Given the description of an element on the screen output the (x, y) to click on. 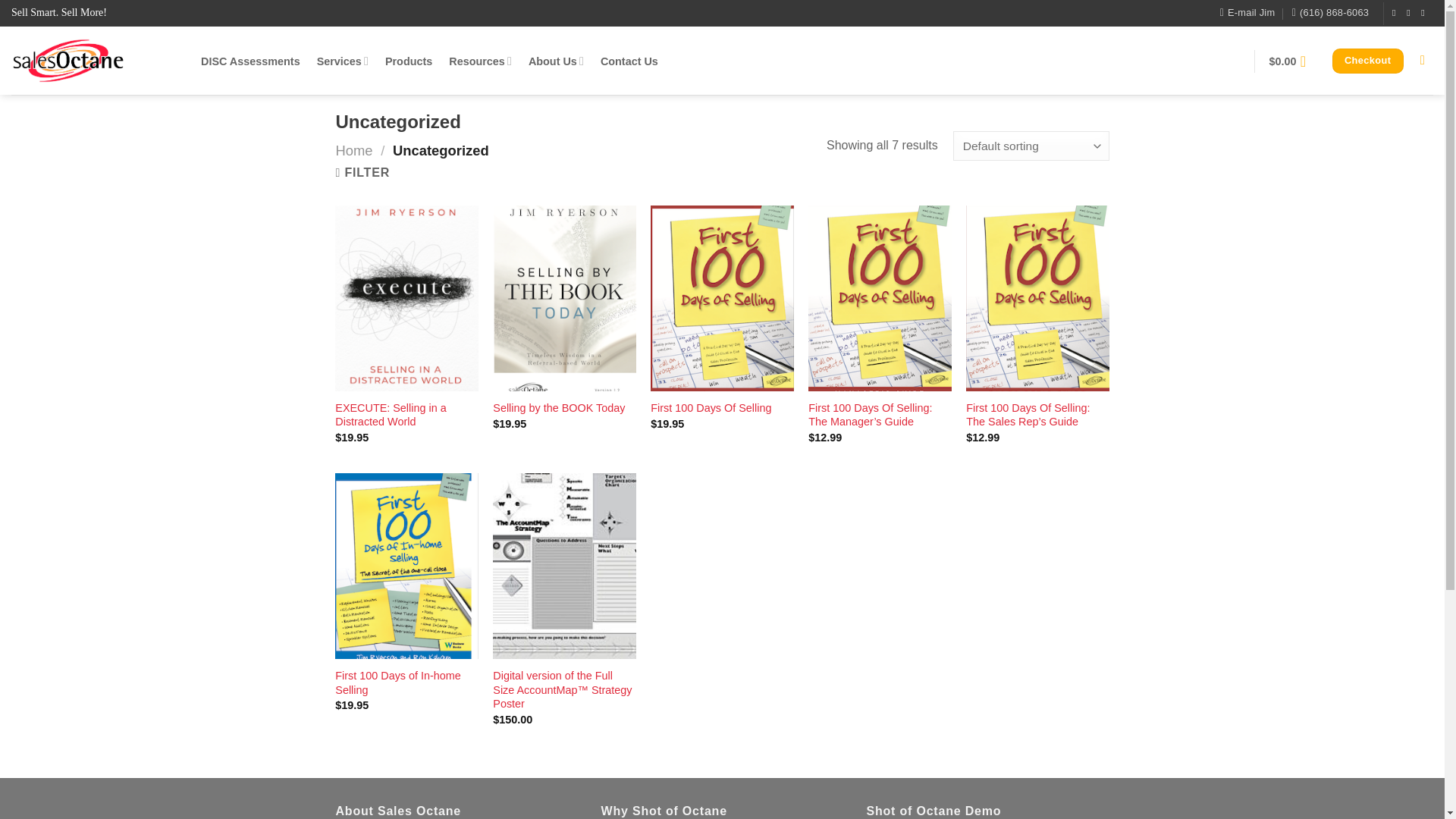
Contact Us (628, 60)
Services (342, 60)
Cart (1292, 60)
Resources (480, 60)
Checkout (1367, 60)
SalesOctane - Rev up your sales team (94, 60)
FILTER (362, 172)
Home (353, 150)
About Us (555, 60)
DISC Assessments (249, 60)
Products (408, 60)
E-mail Jim (1247, 12)
